Given the description of an element on the screen output the (x, y) to click on. 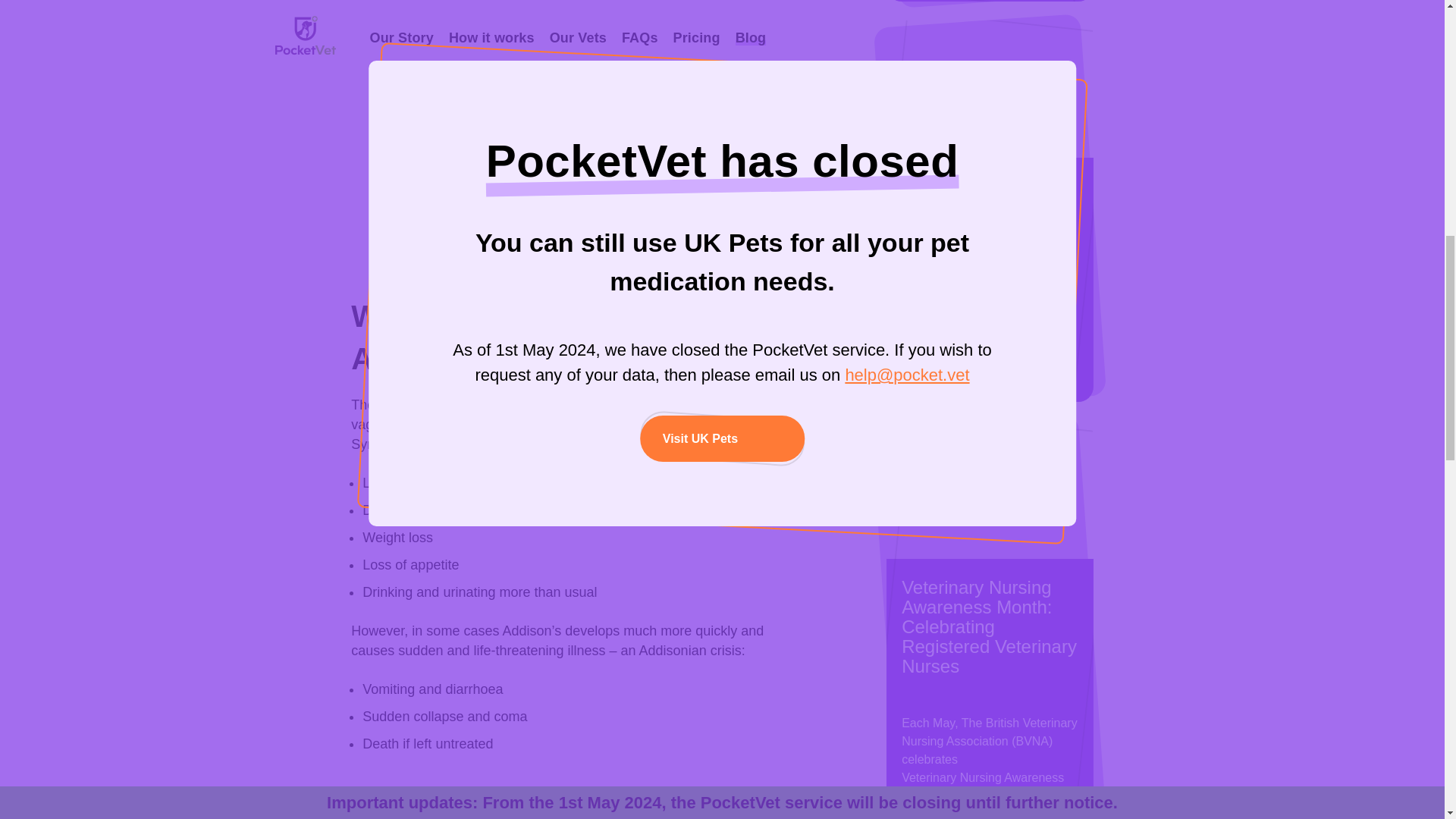
Read this post (989, 373)
Veterinary Nursing Awareness Month (989, 787)
